Given the description of an element on the screen output the (x, y) to click on. 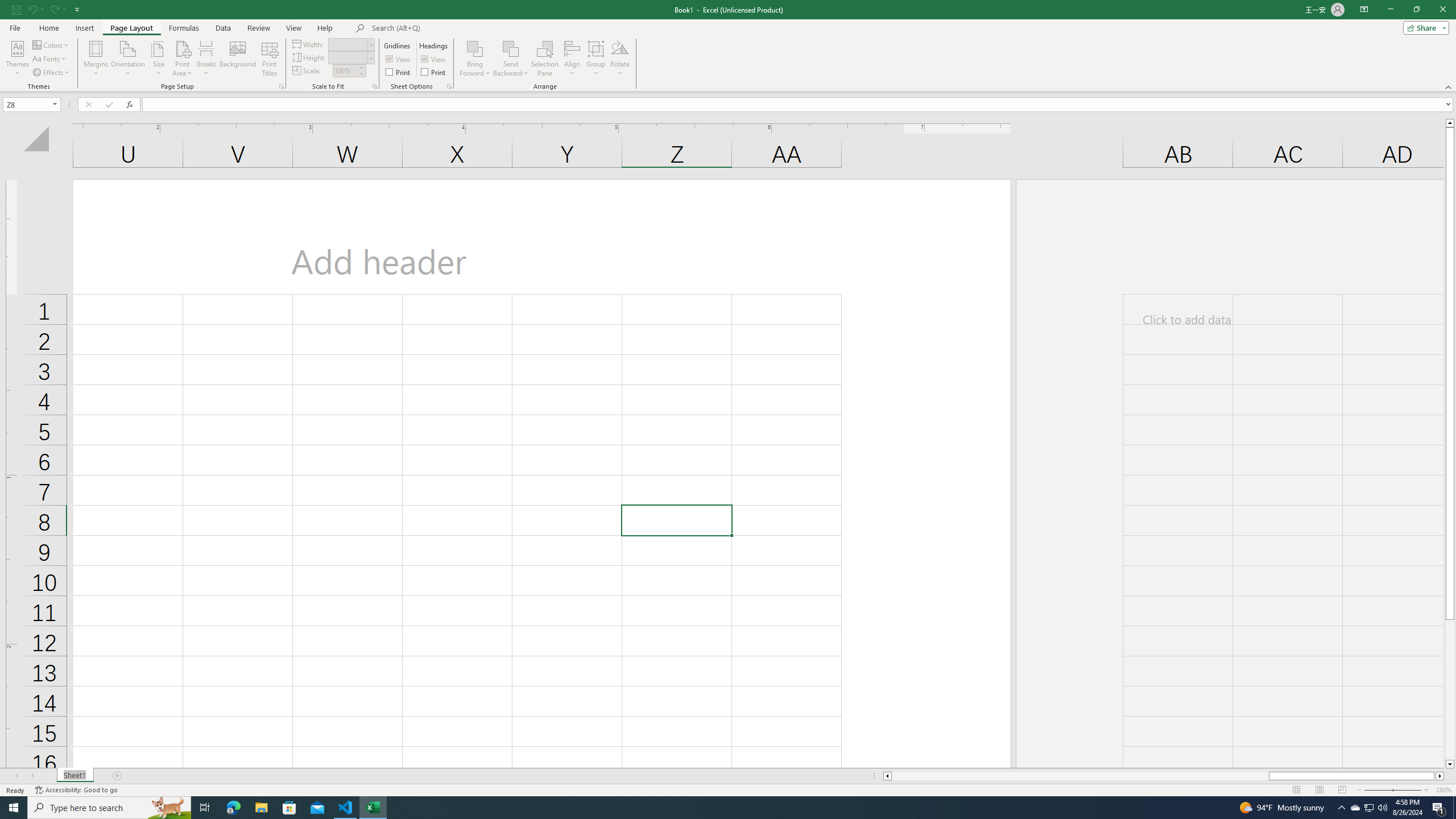
Restore Down (1416, 9)
Group (595, 58)
Share (1423, 27)
Undo (31, 9)
Page left (1079, 775)
Ribbon Display Options (1364, 9)
Send Backward (510, 58)
Page Break Preview (1342, 790)
Review (258, 28)
Colors (51, 44)
Customize Quick Access Toolbar (77, 9)
Themes (17, 58)
Close (1442, 9)
Zoom (1392, 790)
Bring Forward (475, 58)
